Given the description of an element on the screen output the (x, y) to click on. 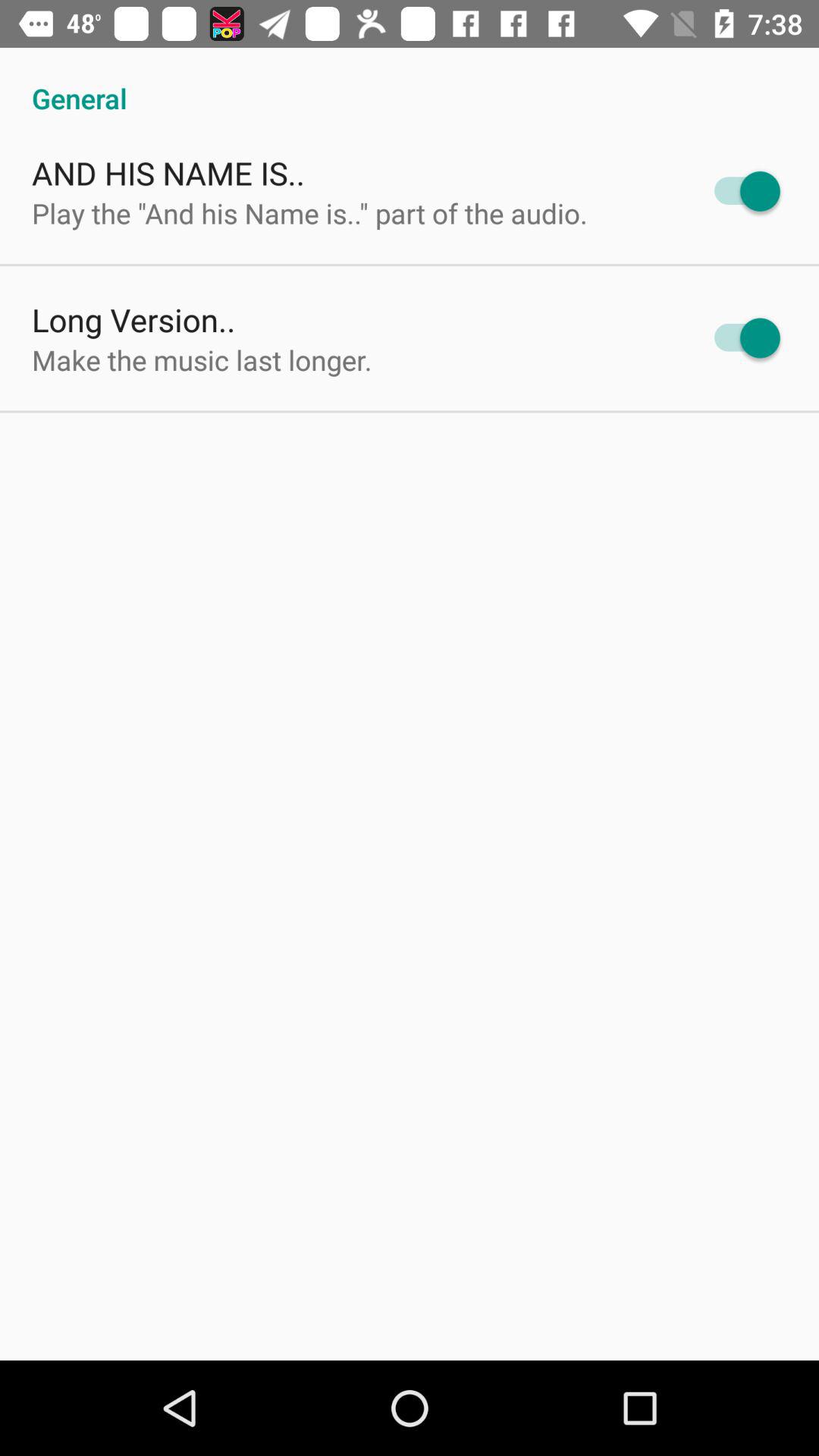
choose play the and icon (309, 213)
